Given the description of an element on the screen output the (x, y) to click on. 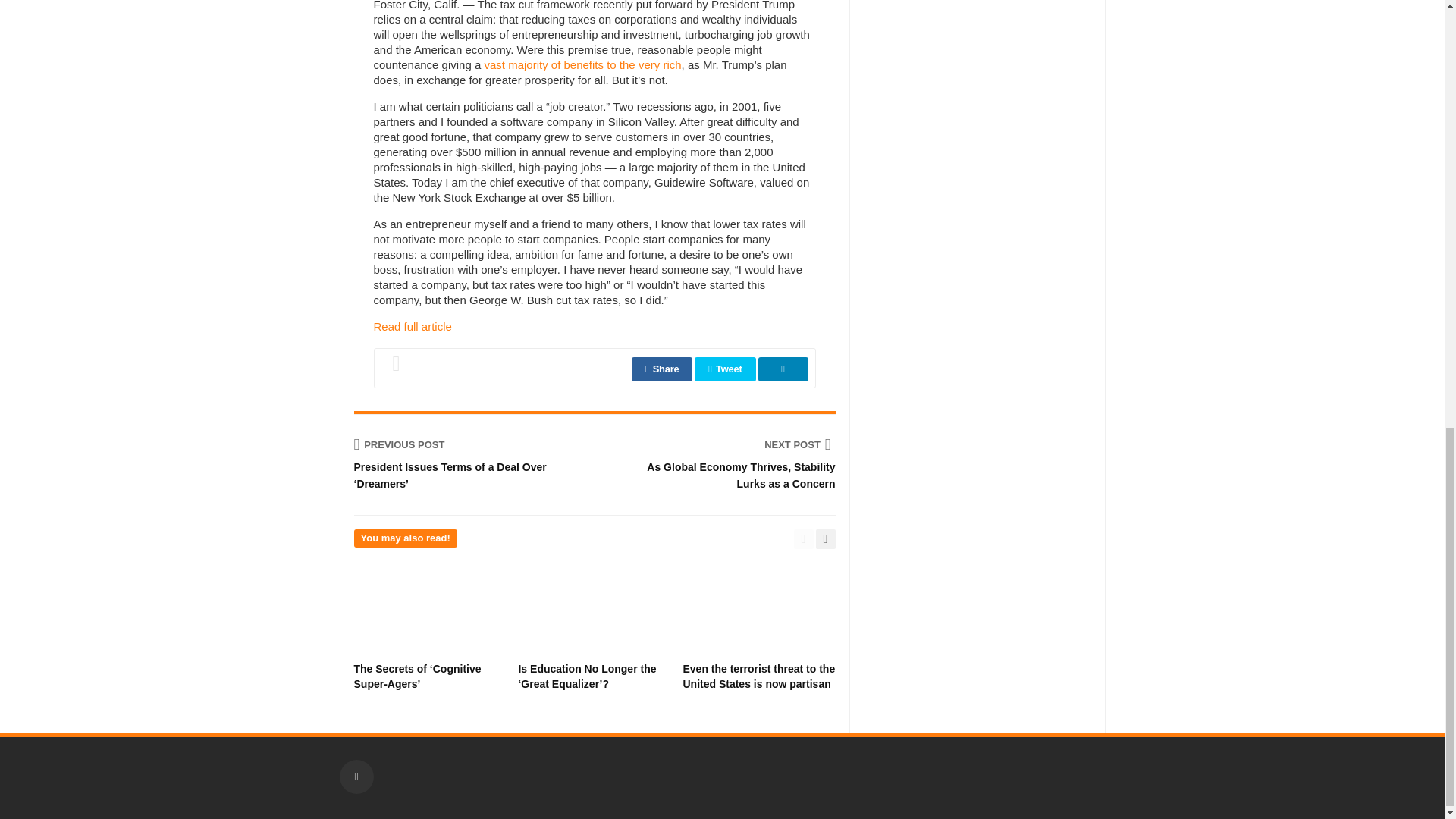
Facebook (356, 776)
As Global Economy Thrives, Stability Lurks as a Concern (726, 444)
